Given the description of an element on the screen output the (x, y) to click on. 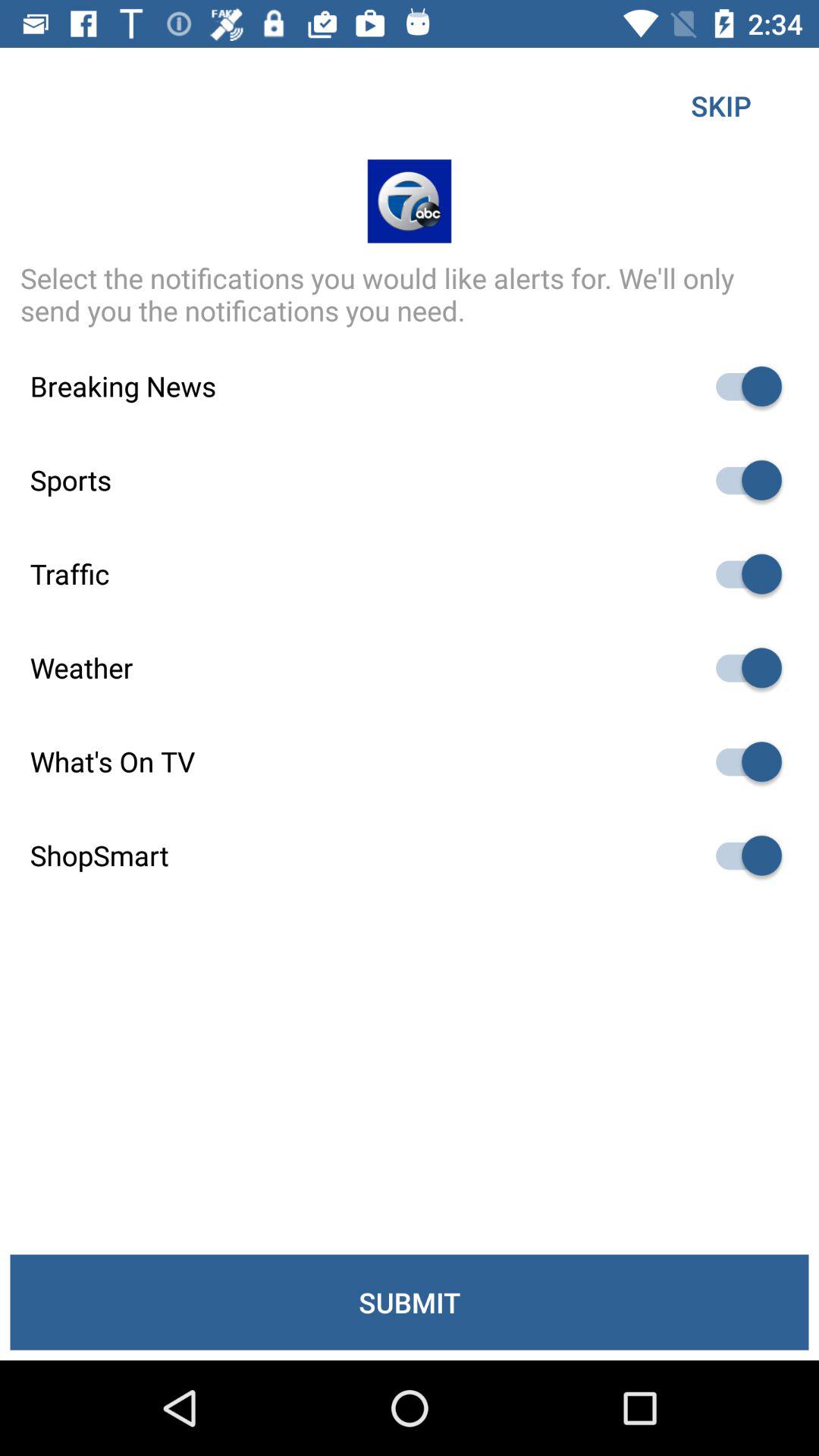
on off (741, 574)
